Given the description of an element on the screen output the (x, y) to click on. 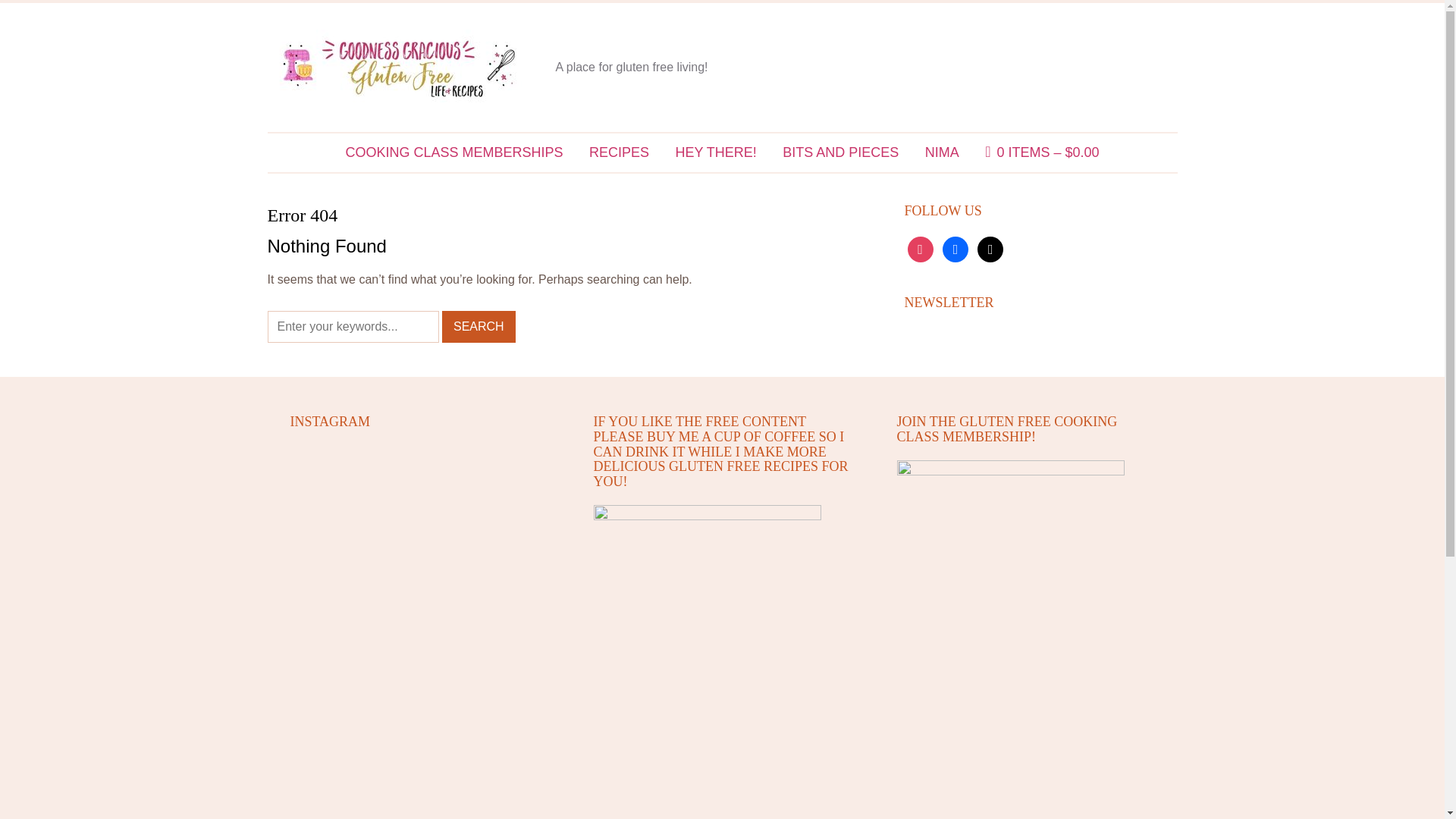
instagram (920, 248)
HEY THERE! (715, 152)
x (989, 248)
X (989, 248)
Instagram (920, 248)
Search (478, 327)
Search (478, 327)
COOKING CLASS MEMBERSHIPS (453, 152)
Search (478, 327)
NIMA (942, 152)
